Given the description of an element on the screen output the (x, y) to click on. 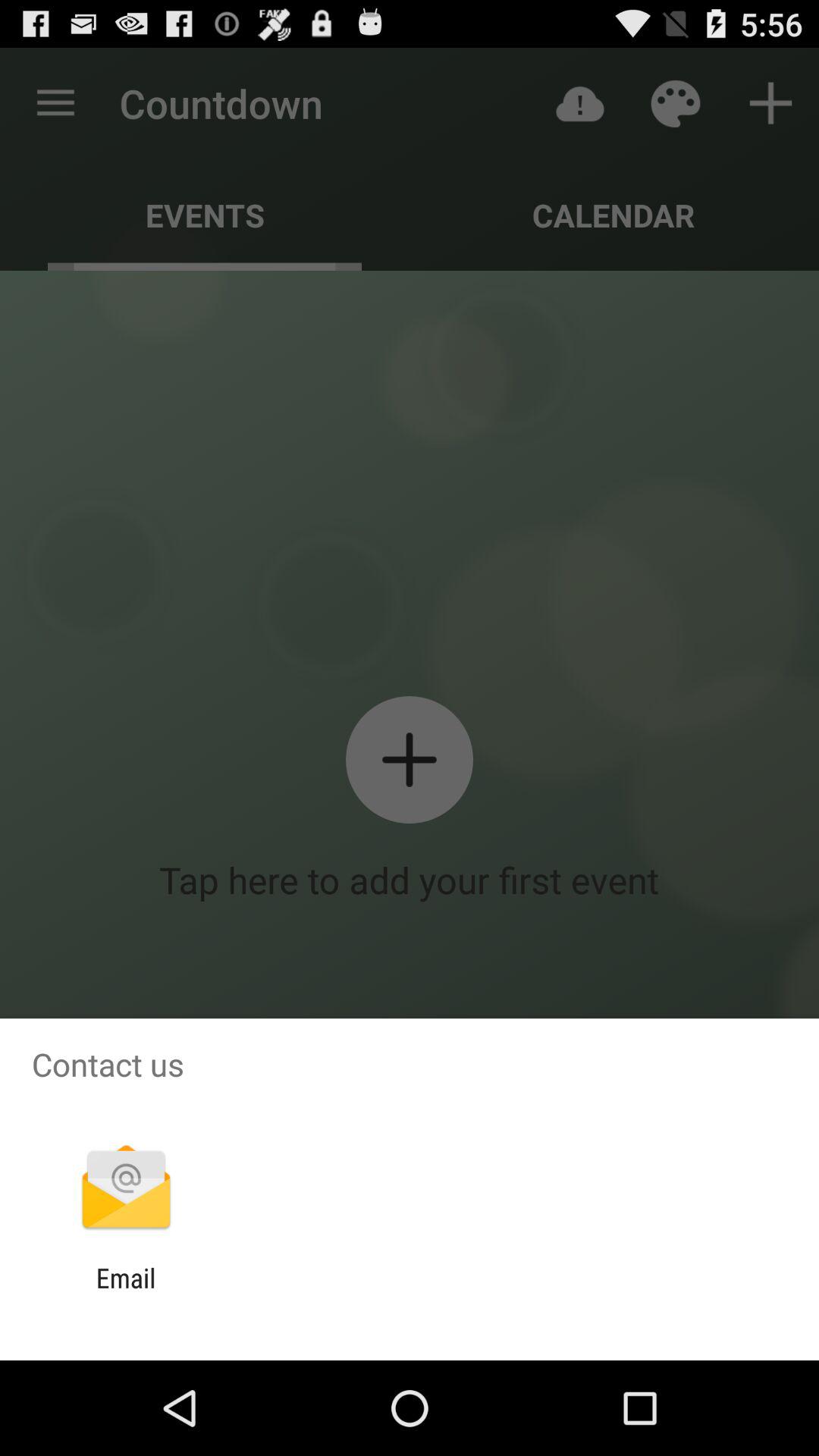
tap item above the email item (126, 1189)
